Given the description of an element on the screen output the (x, y) to click on. 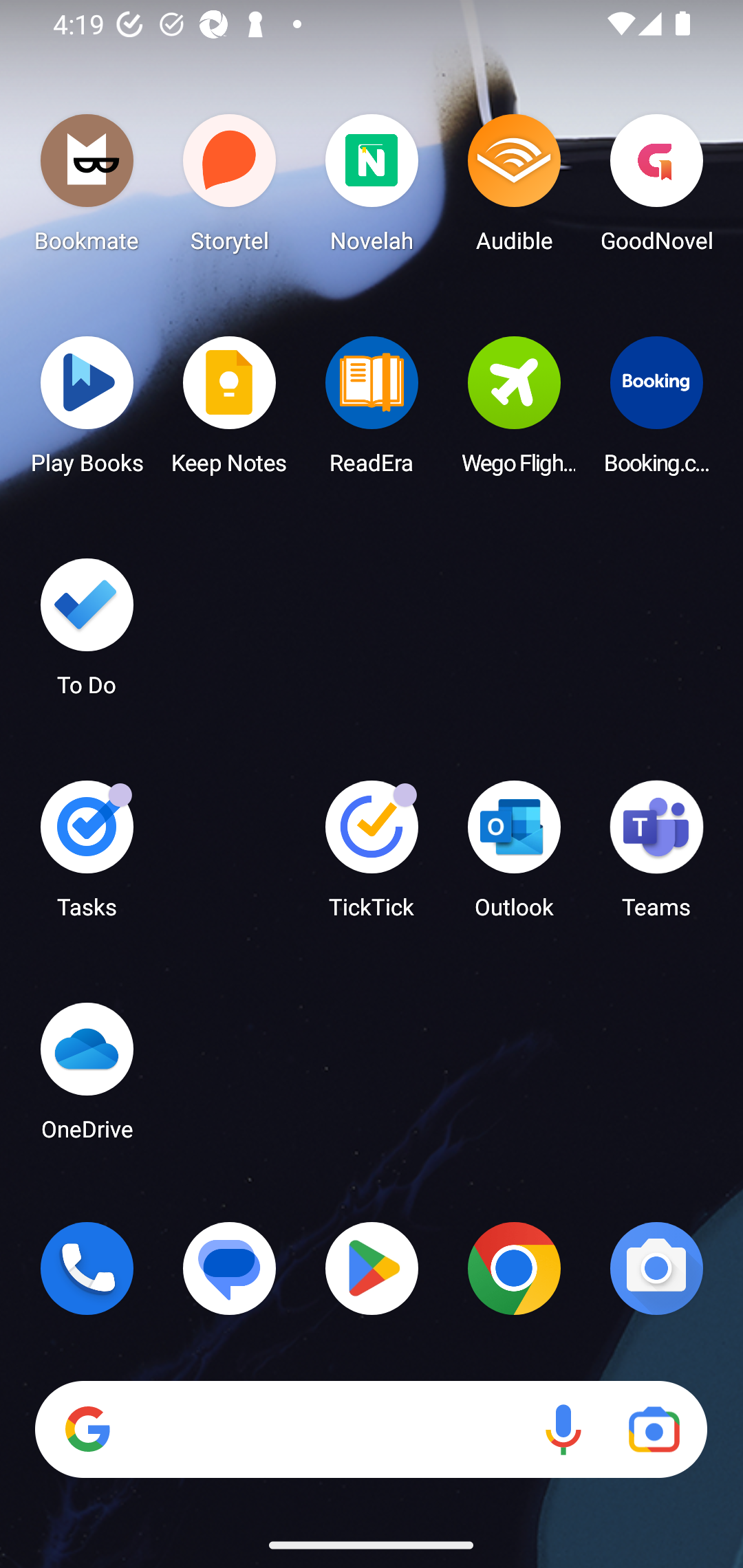
Bookmate (86, 188)
Storytel (229, 188)
Novelah (371, 188)
Audible (513, 188)
GoodNovel (656, 188)
Play Books (86, 410)
Keep Notes (229, 410)
ReadEra (371, 410)
Wego Flights & Hotels (513, 410)
Booking.com (656, 410)
To Do (86, 633)
Tasks Tasks has 1 notification (86, 854)
TickTick TickTick has 3 notifications (371, 854)
Outlook (513, 854)
Teams (656, 854)
OneDrive (86, 1076)
Phone (86, 1268)
Messages (229, 1268)
Play Store (371, 1268)
Chrome (513, 1268)
Camera (656, 1268)
Voice search (562, 1429)
Google Lens (653, 1429)
